Given the description of an element on the screen output the (x, y) to click on. 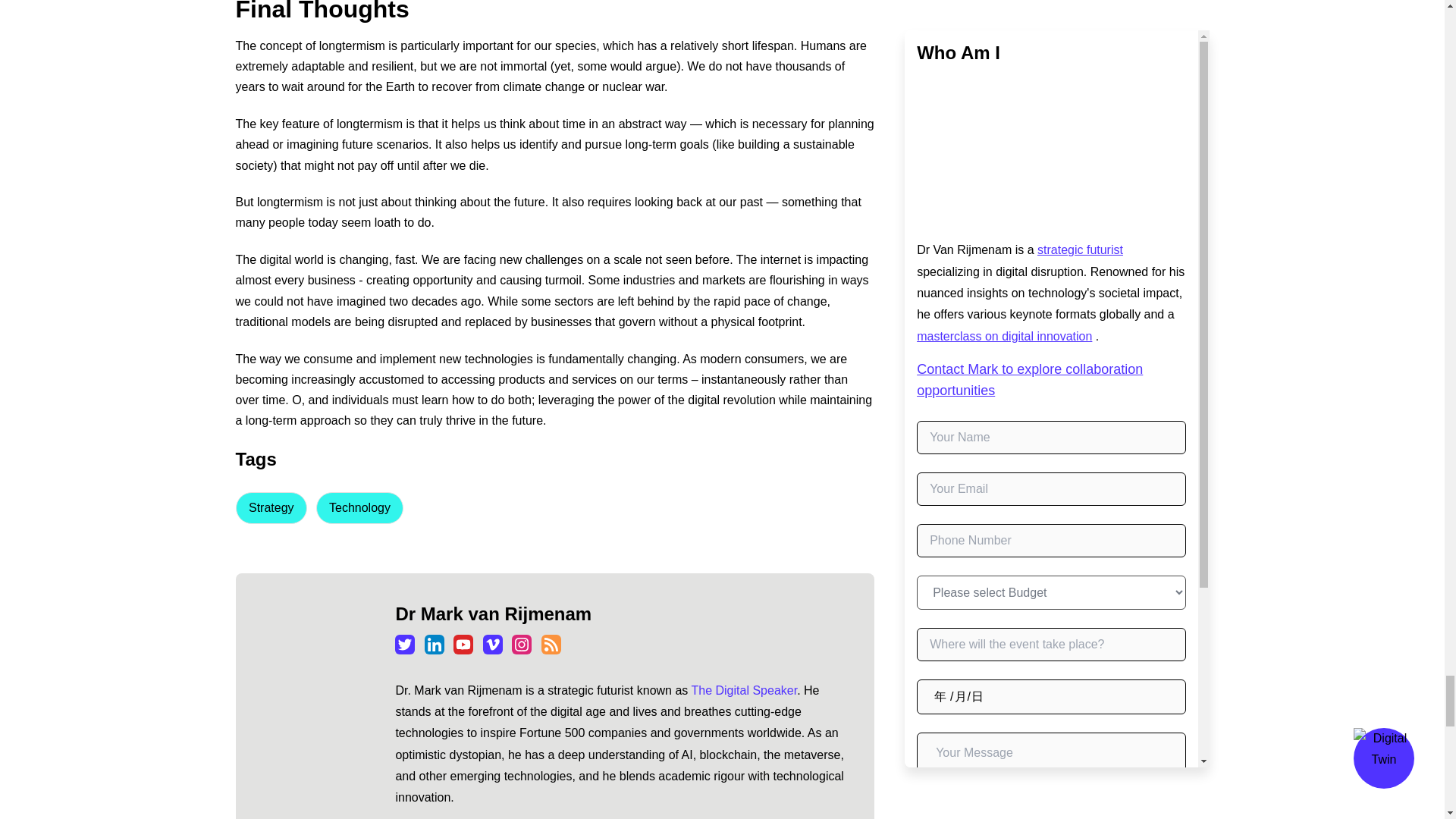
Strategy (269, 508)
RSS (550, 644)
Technology (359, 508)
Linkedin (434, 644)
Instagram (521, 644)
Youtube (462, 644)
Twitter (404, 644)
Vimeo (492, 644)
